Given the description of an element on the screen output the (x, y) to click on. 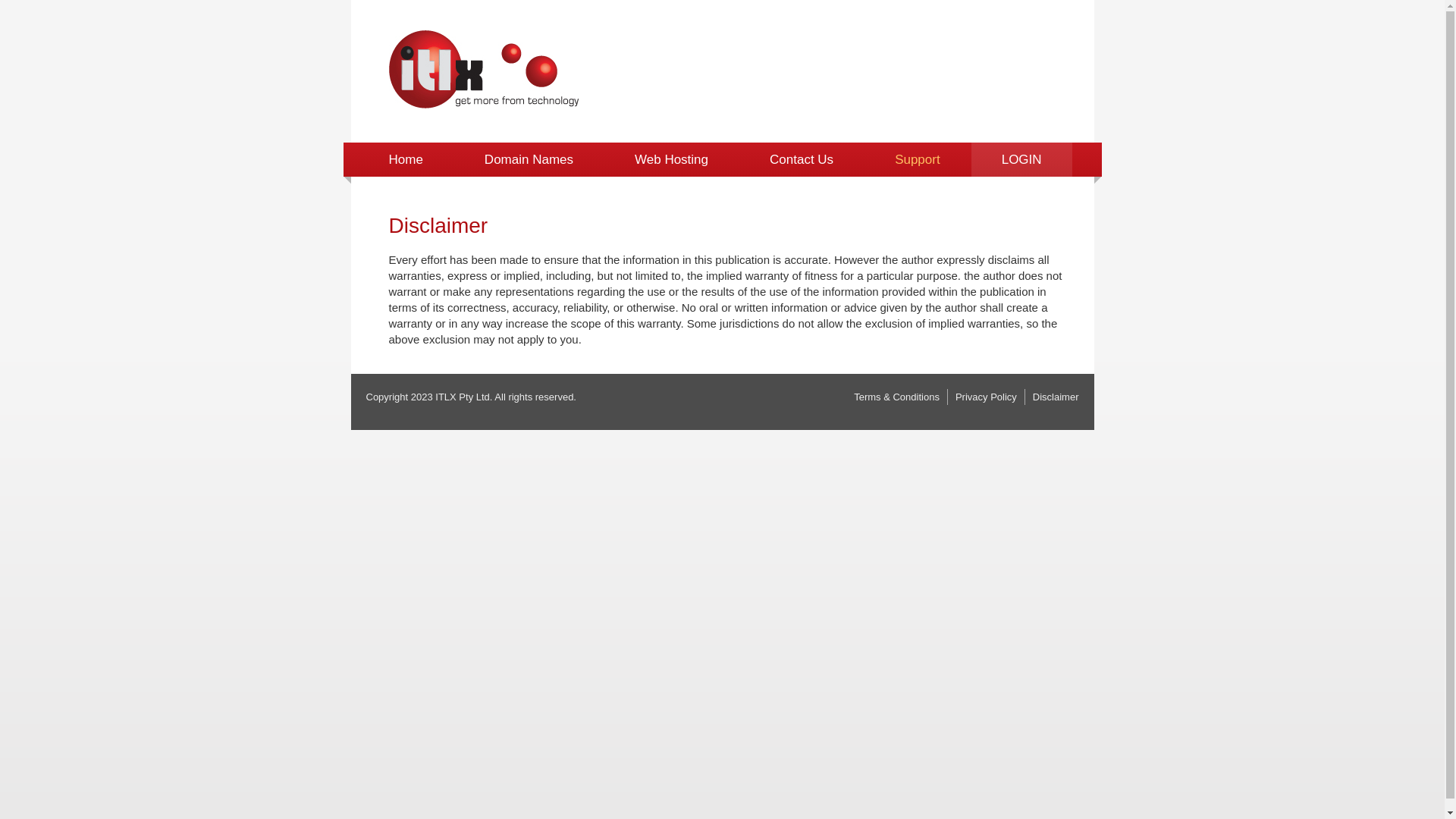
Support Element type: text (917, 159)
Home Element type: text (404, 159)
Terms & Conditions Element type: text (896, 396)
Domain Names Element type: text (528, 159)
Web Hosting Element type: text (671, 159)
Contact Us Element type: text (801, 159)
Disclaimer Element type: text (1055, 396)
Privacy Policy Element type: text (985, 396)
LOGIN Element type: text (1021, 159)
